Given the description of an element on the screen output the (x, y) to click on. 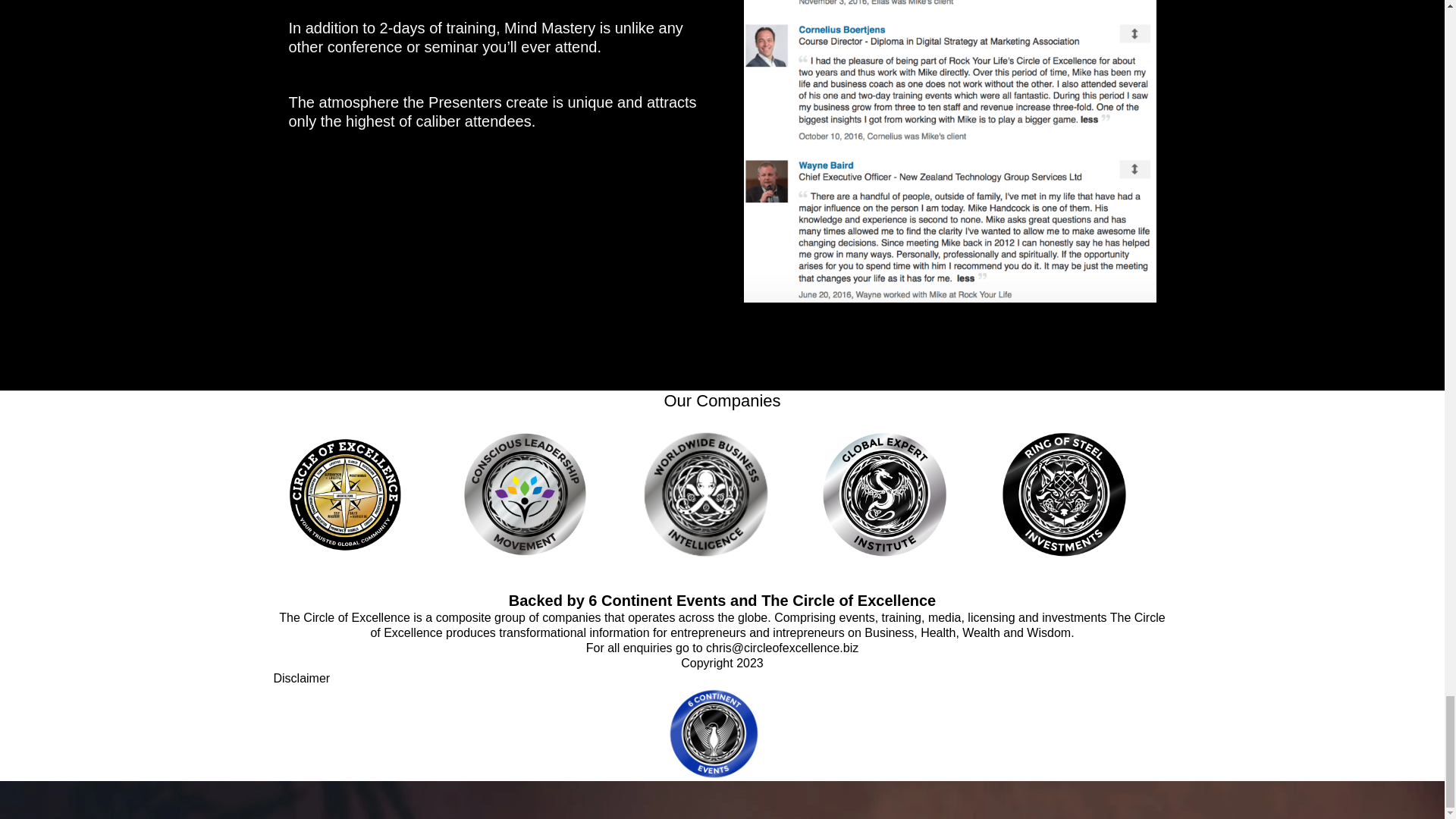
Disclaimer (301, 677)
